Given the description of an element on the screen output the (x, y) to click on. 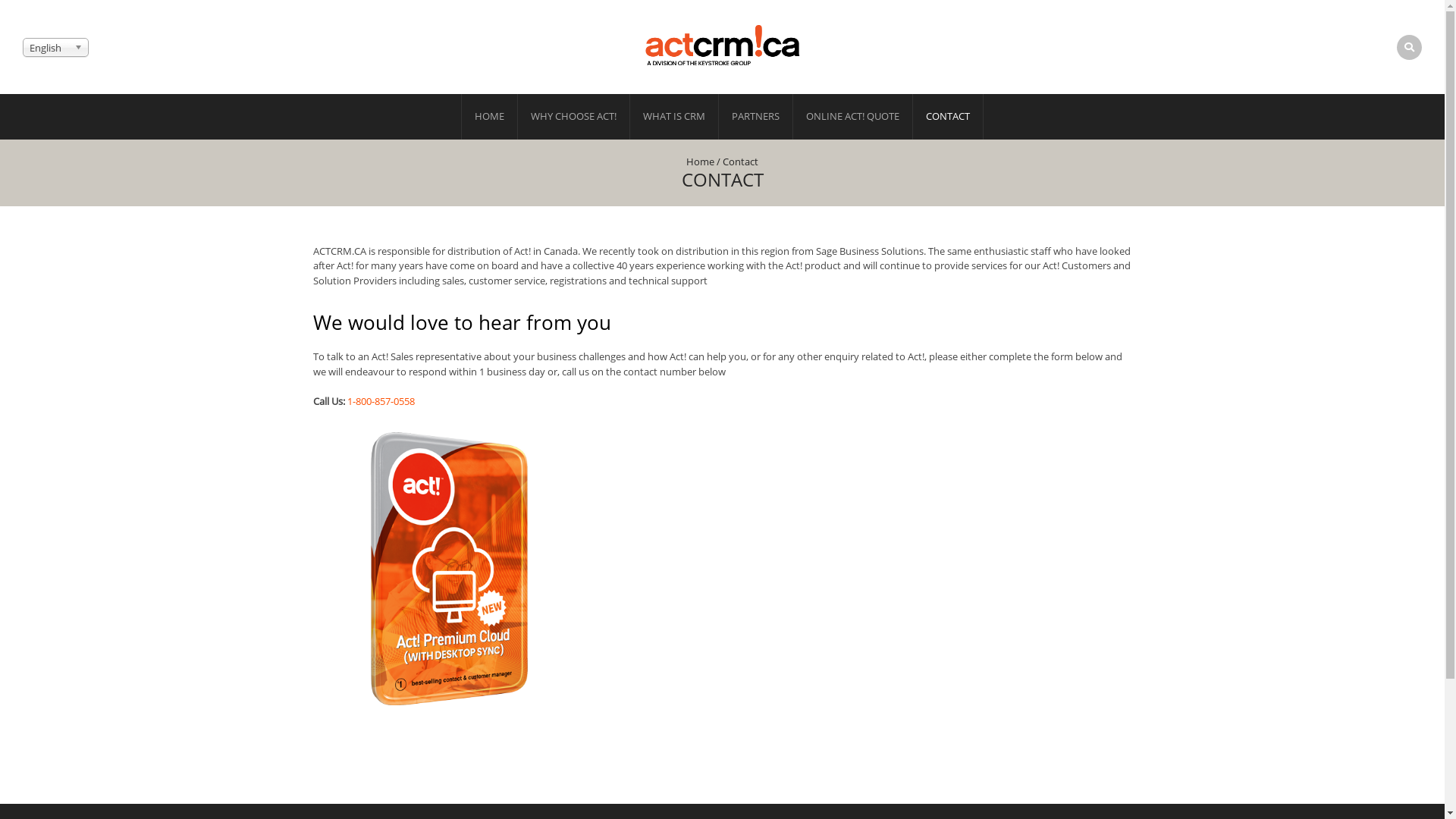
CONTACT Element type: text (947, 116)
WHY CHOOSE ACT! Element type: text (573, 116)
ONLINE ACT! QUOTE Element type: text (852, 116)
English Element type: text (55, 46)
HOME Element type: text (489, 116)
1-800-857-0558 Element type: text (380, 400)
PARTNERS Element type: text (755, 116)
Home Element type: text (700, 161)
WHAT IS CRM Element type: text (674, 116)
